Given the description of an element on the screen output the (x, y) to click on. 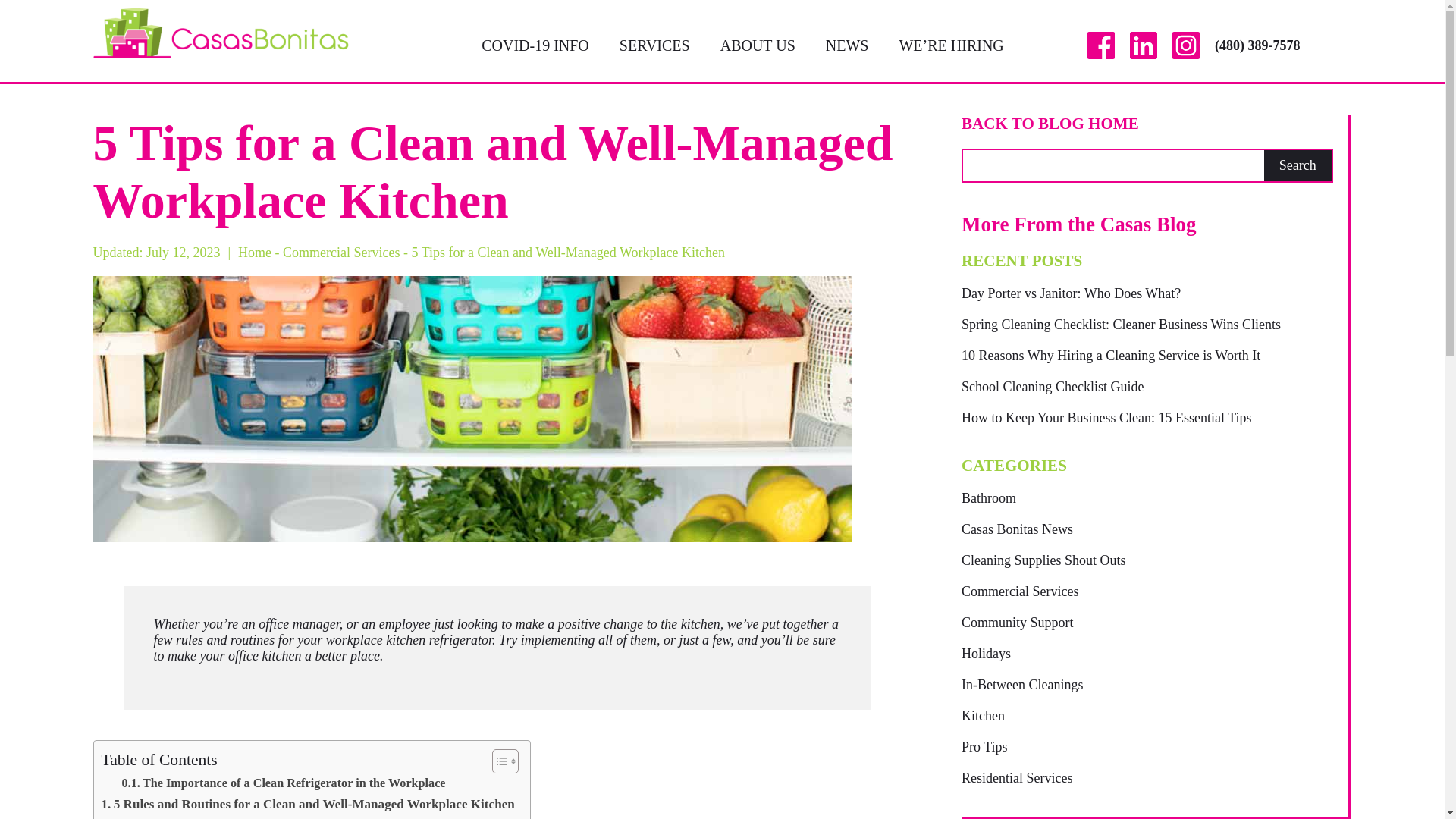
COVID-19 INFO (535, 44)
The Importance of a Clean Refrigerator in the Workplace (282, 783)
NEWS (847, 44)
ABOUT US (757, 44)
SERVICES (655, 44)
